Given the description of an element on the screen output the (x, y) to click on. 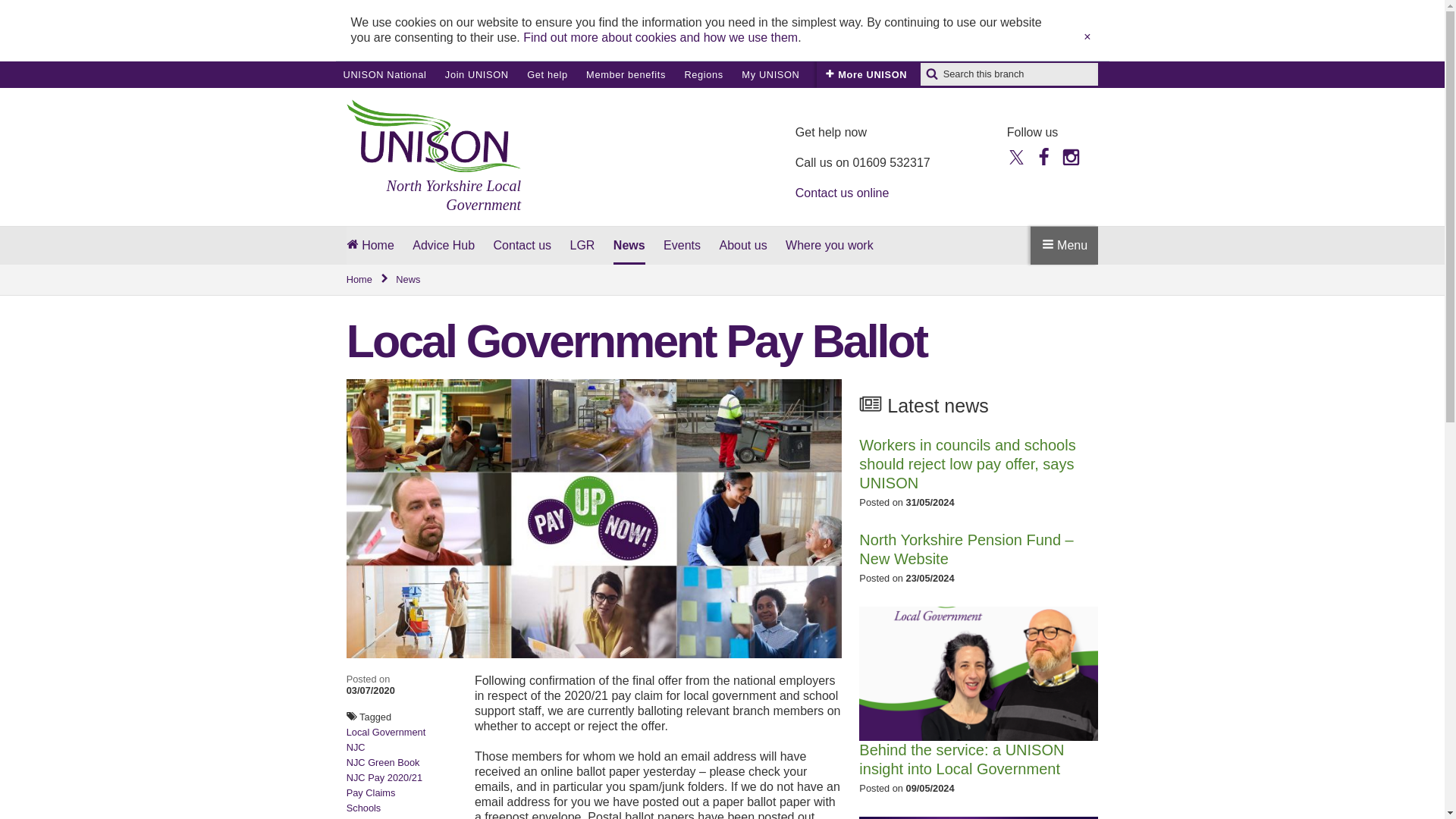
UNISON National (384, 74)
My UNISON (770, 74)
Find out more about cookies and how we use them (659, 37)
Twitter (1016, 156)
Get help (547, 74)
More UNISON (865, 74)
Menu (1063, 245)
North Yorkshire Local Government (433, 156)
